Given the description of an element on the screen output the (x, y) to click on. 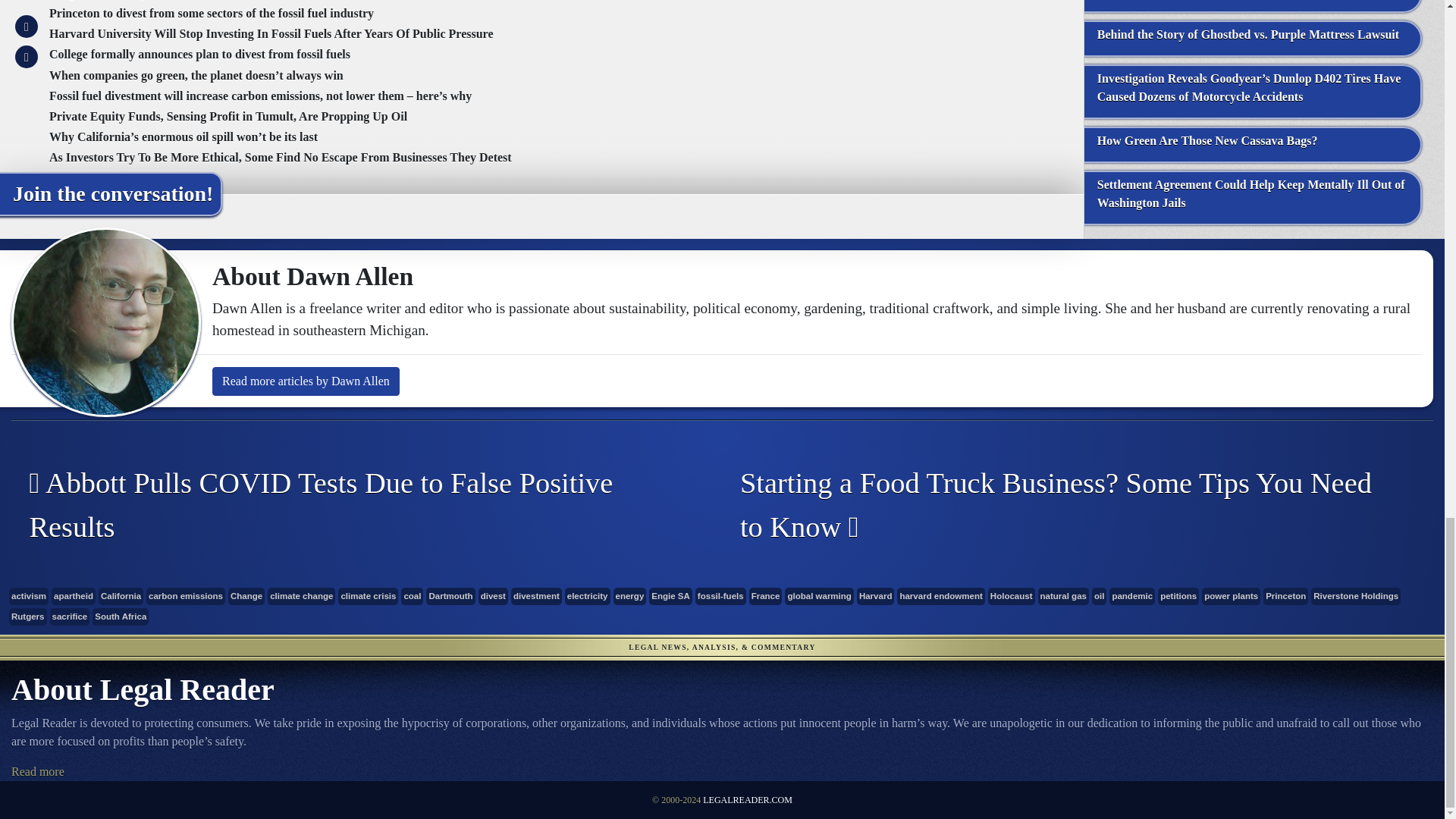
College formally announces plan to divest from fossil fuels (199, 53)
Read more articles by Dawn Allen (305, 380)
